Given the description of an element on the screen output the (x, y) to click on. 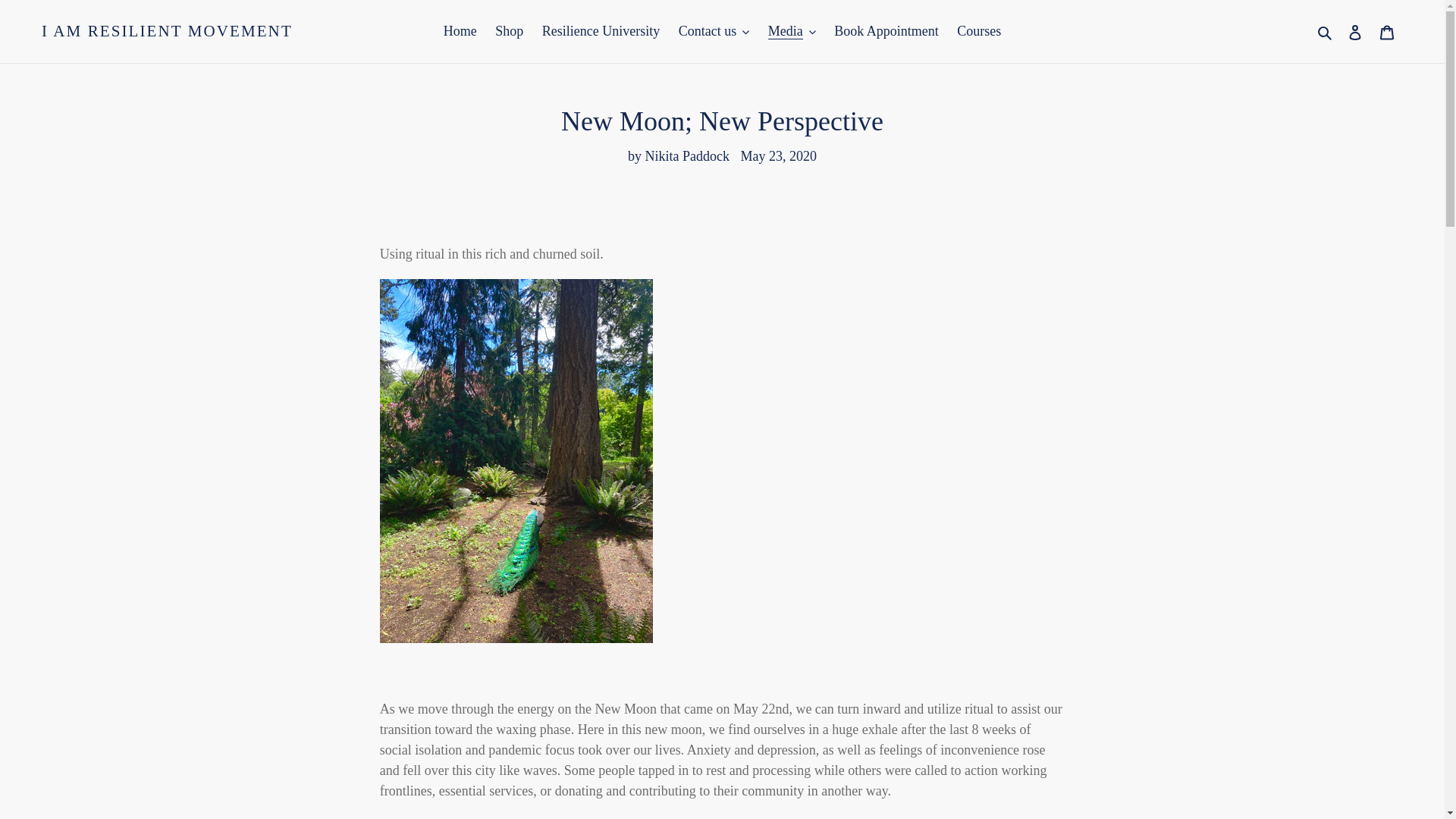
Book Appointment (886, 31)
Media (792, 31)
Cart (1387, 31)
Courses (979, 31)
Log in (1355, 31)
Contact us (714, 31)
Search (1326, 31)
Home (459, 31)
Resilience University (600, 31)
I AM RESILIENT MOVEMENT (167, 31)
